Given the description of an element on the screen output the (x, y) to click on. 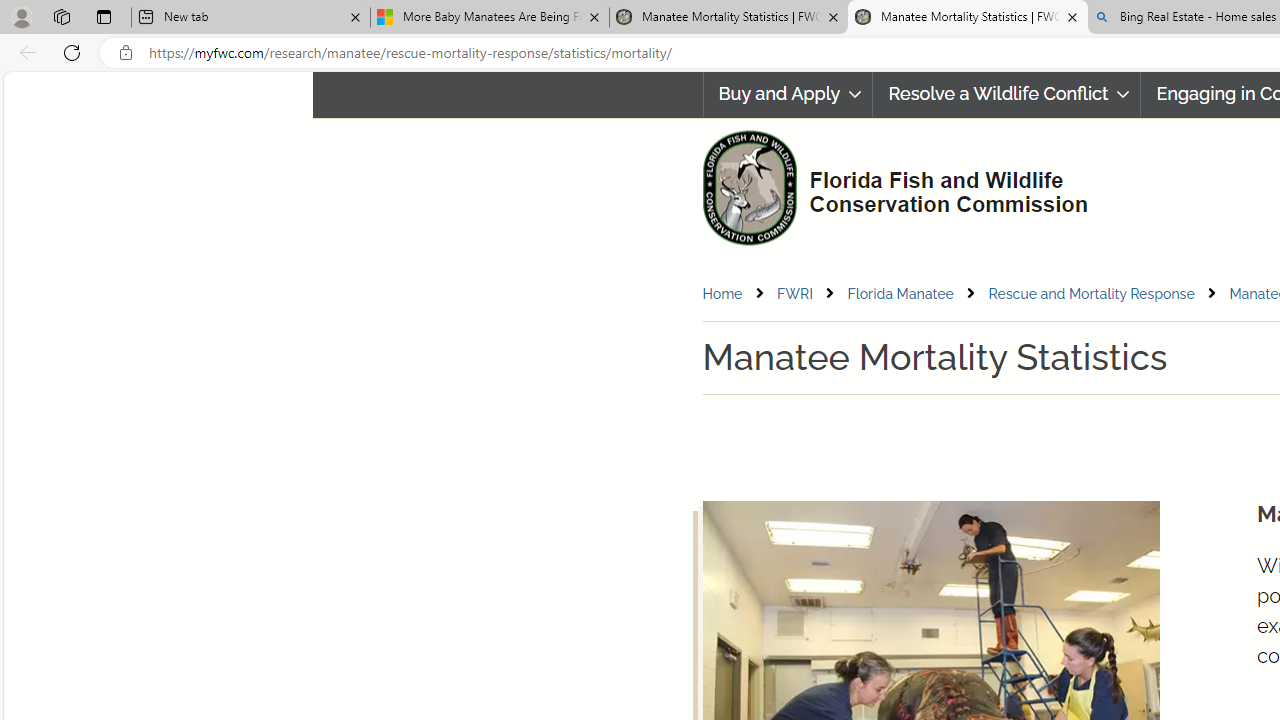
FWRI (794, 293)
FWRI (810, 293)
Resolve a Wildlife Conflict (1006, 94)
Home (737, 293)
Home (721, 293)
FWC Logo Florida Fish and Wildlife Conservation Commission (886, 185)
Buy and Apply (787, 94)
Florida Manatee (900, 293)
Buy and Apply (787, 94)
Florida Manatee (916, 293)
Manatee Mortality Statistics | FWC (967, 17)
